Given the description of an element on the screen output the (x, y) to click on. 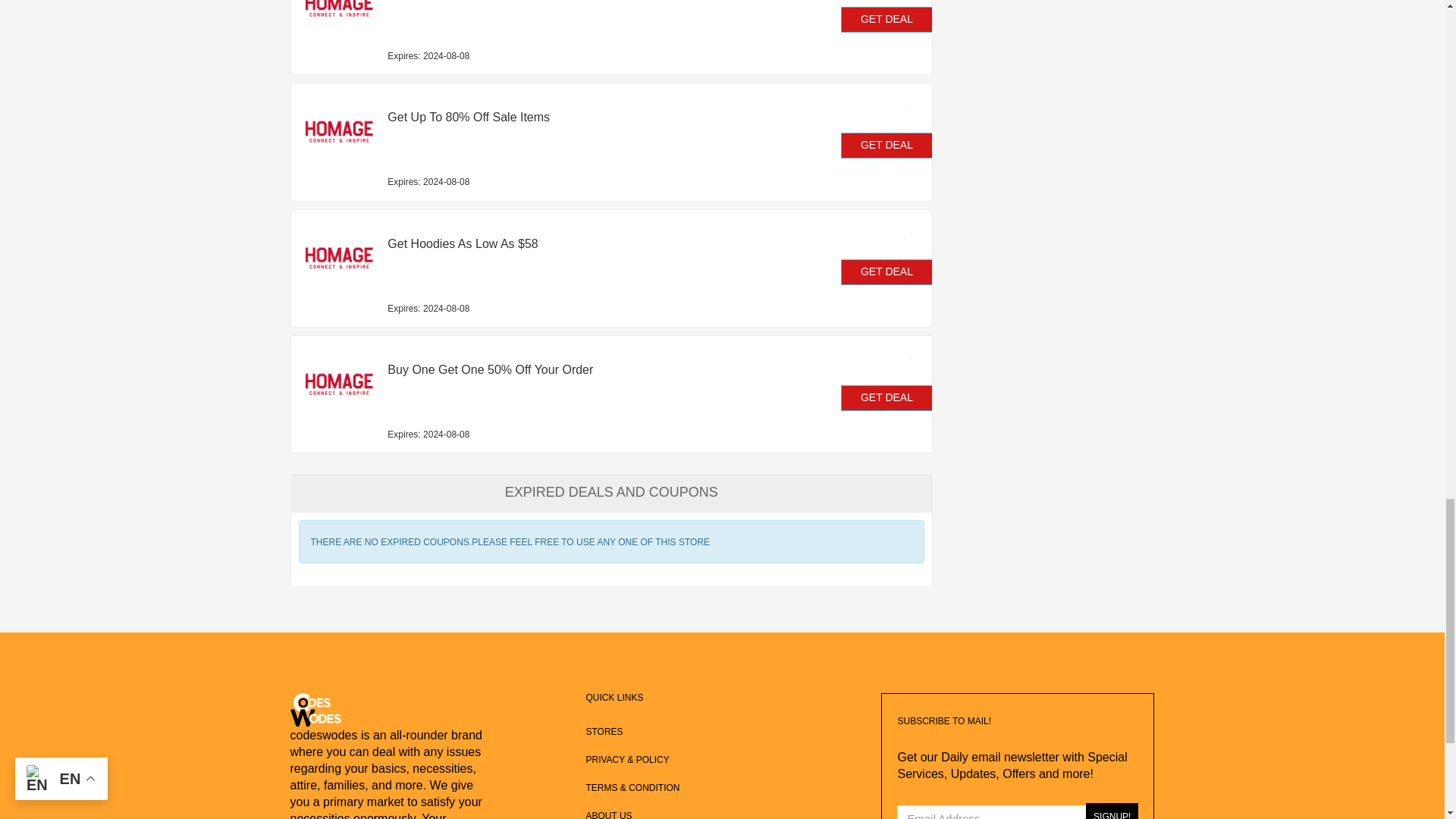
GET DEAL (887, 145)
GET DEAL (887, 397)
GET DEAL (887, 272)
GET DEAL (887, 19)
